Given the description of an element on the screen output the (x, y) to click on. 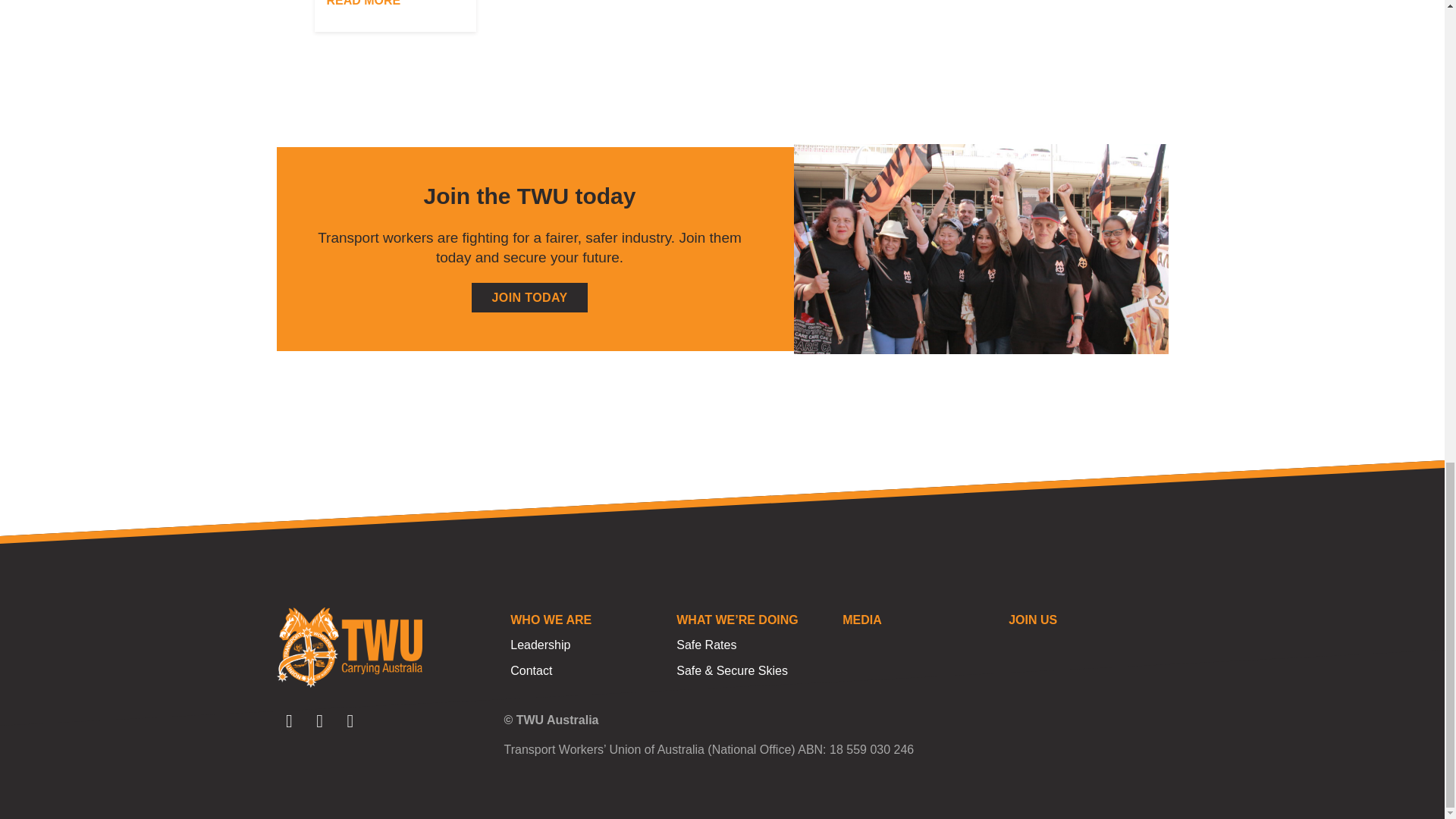
Leadership (586, 645)
JOIN TODAY (528, 297)
JOIN US (1084, 620)
Contact (586, 670)
Safe Rates (752, 645)
WHO WE ARE (586, 620)
MEDIA (918, 620)
